Given the description of an element on the screen output the (x, y) to click on. 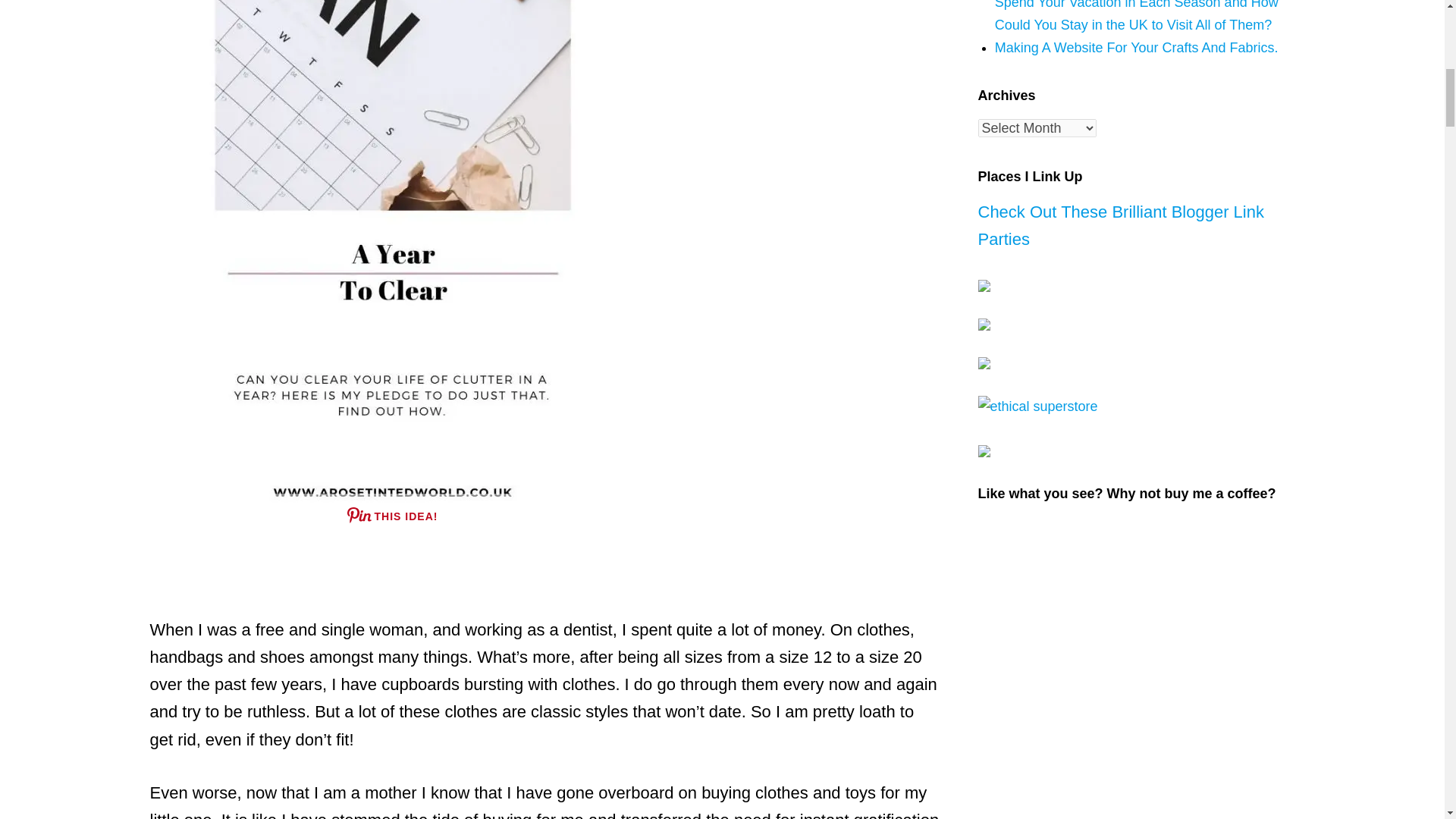
THIS IDEA! (391, 515)
